Given the description of an element on the screen output the (x, y) to click on. 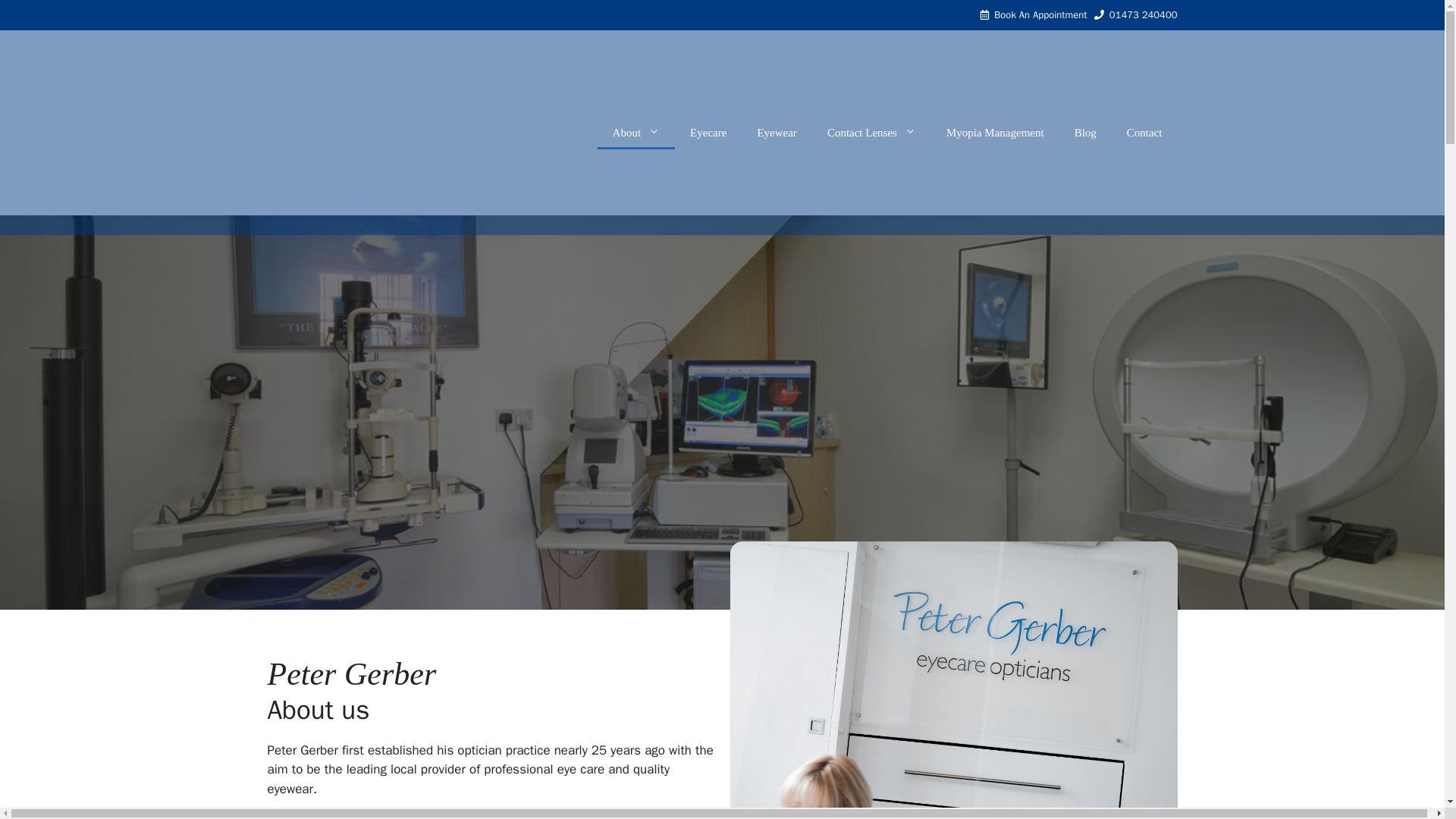
About (635, 131)
Contact Lenses (871, 131)
Blog (1085, 131)
Myopia Management (995, 131)
Eyewear (775, 131)
Book An Appointment (1040, 14)
Eyecare (708, 131)
Contact (1144, 131)
